Given the description of an element on the screen output the (x, y) to click on. 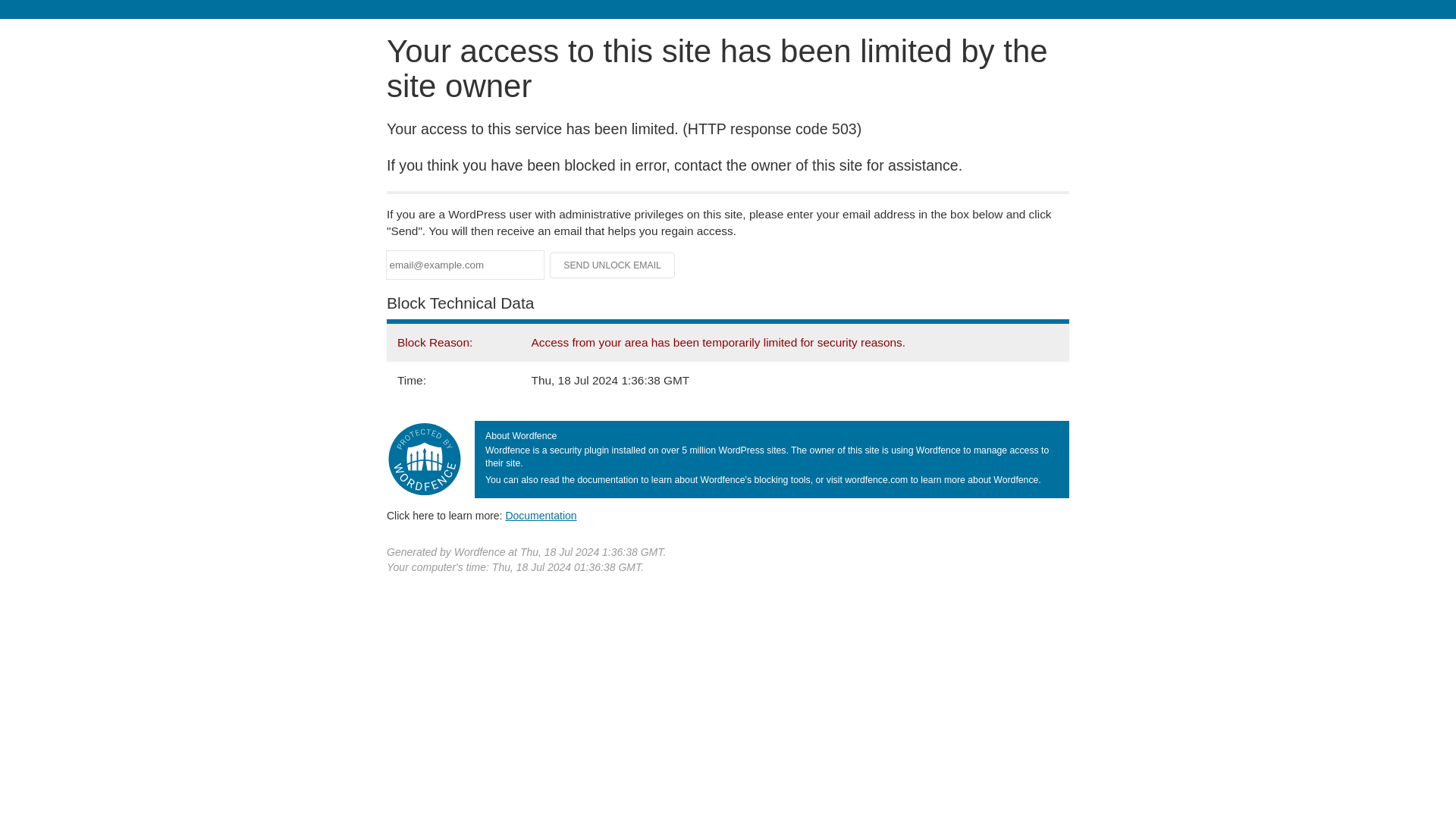
Send Unlock Email (612, 265)
Documentation (540, 515)
Send Unlock Email (612, 265)
